Given the description of an element on the screen output the (x, y) to click on. 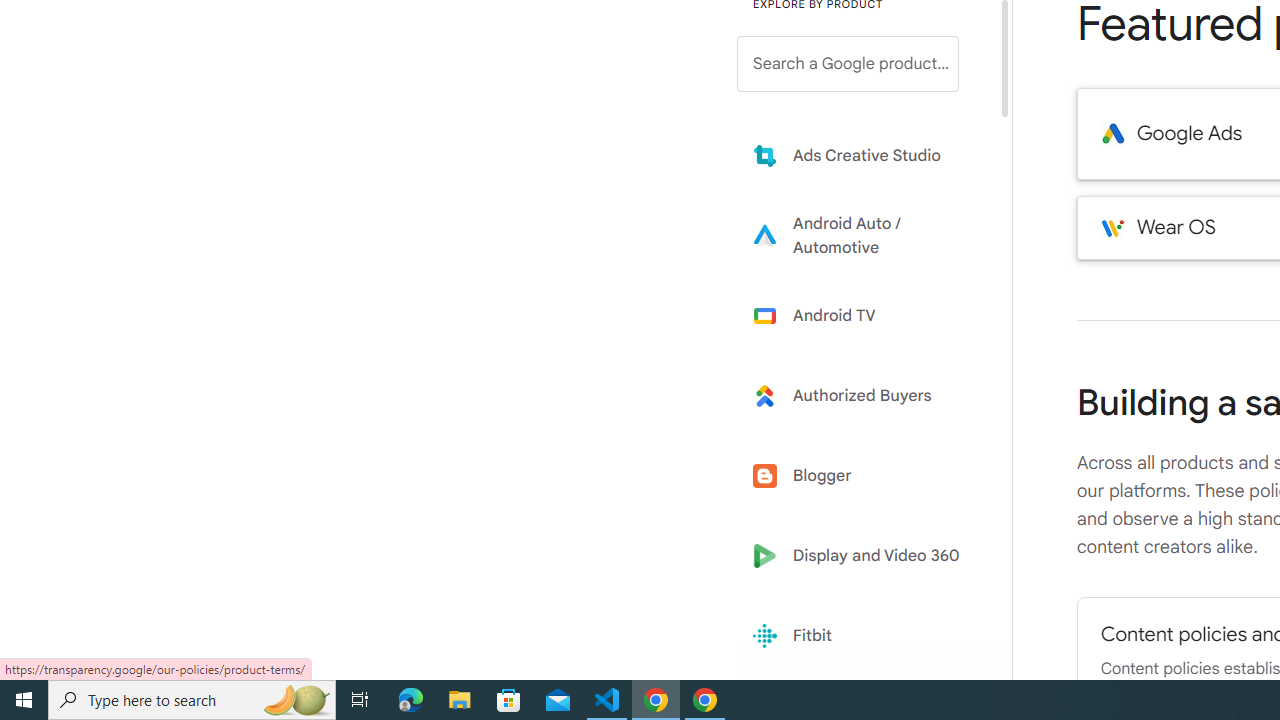
Learn more about Android Auto (862, 235)
Display and Video 360 (862, 556)
Blogger (862, 476)
Blogger (862, 476)
Learn more about Ads Creative Studio (862, 155)
Fitbit (862, 636)
Learn more about Ads Creative Studio (862, 155)
Learn more about Android TV (862, 315)
Learn more about Authorized Buyers (862, 395)
Display and Video 360 (862, 556)
Learn more about Authorized Buyers (862, 395)
Learn more about Android Auto (862, 235)
Fitbit (862, 636)
Search a Google product from below list. (847, 64)
Learn more about Android TV (862, 315)
